Given the description of an element on the screen output the (x, y) to click on. 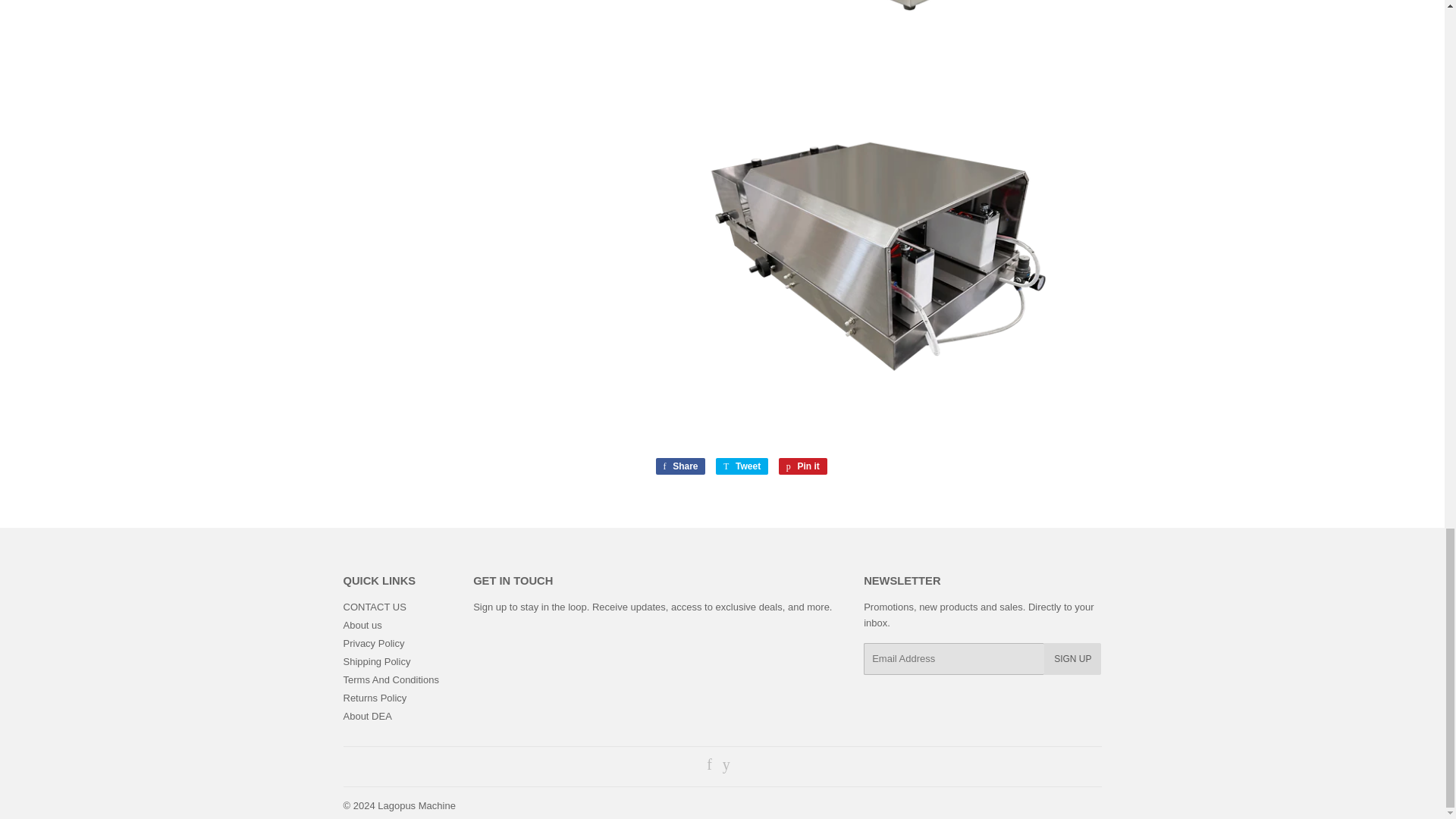
Tweet on Twitter (742, 466)
Share on Facebook (679, 466)
Pin on Pinterest (802, 466)
